Given the description of an element on the screen output the (x, y) to click on. 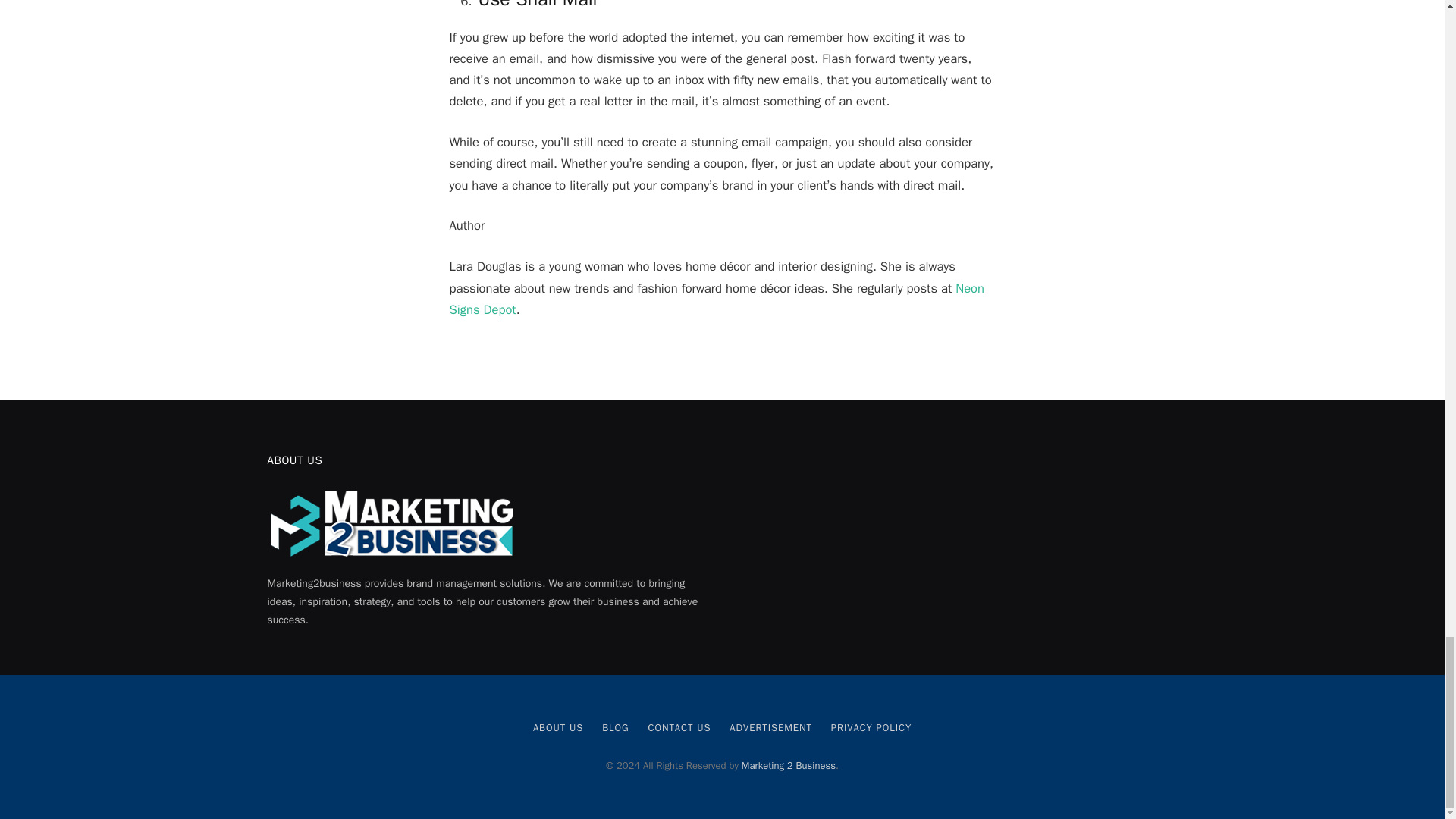
CONTACT US (678, 727)
Neon Signs Depot (716, 298)
BLOG (615, 727)
ABOUT US (557, 727)
